Given the description of an element on the screen output the (x, y) to click on. 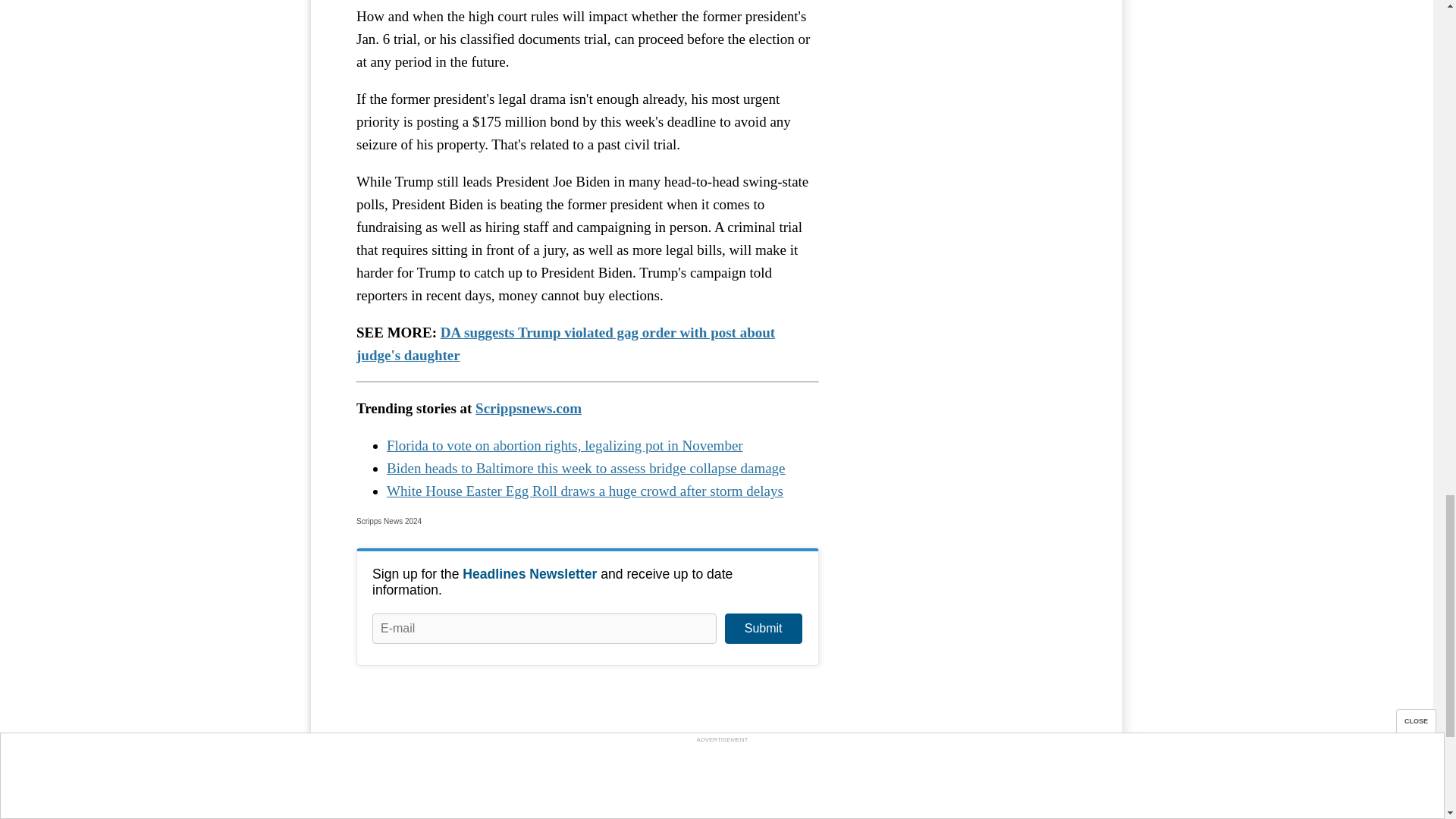
Submit (763, 628)
